Given the description of an element on the screen output the (x, y) to click on. 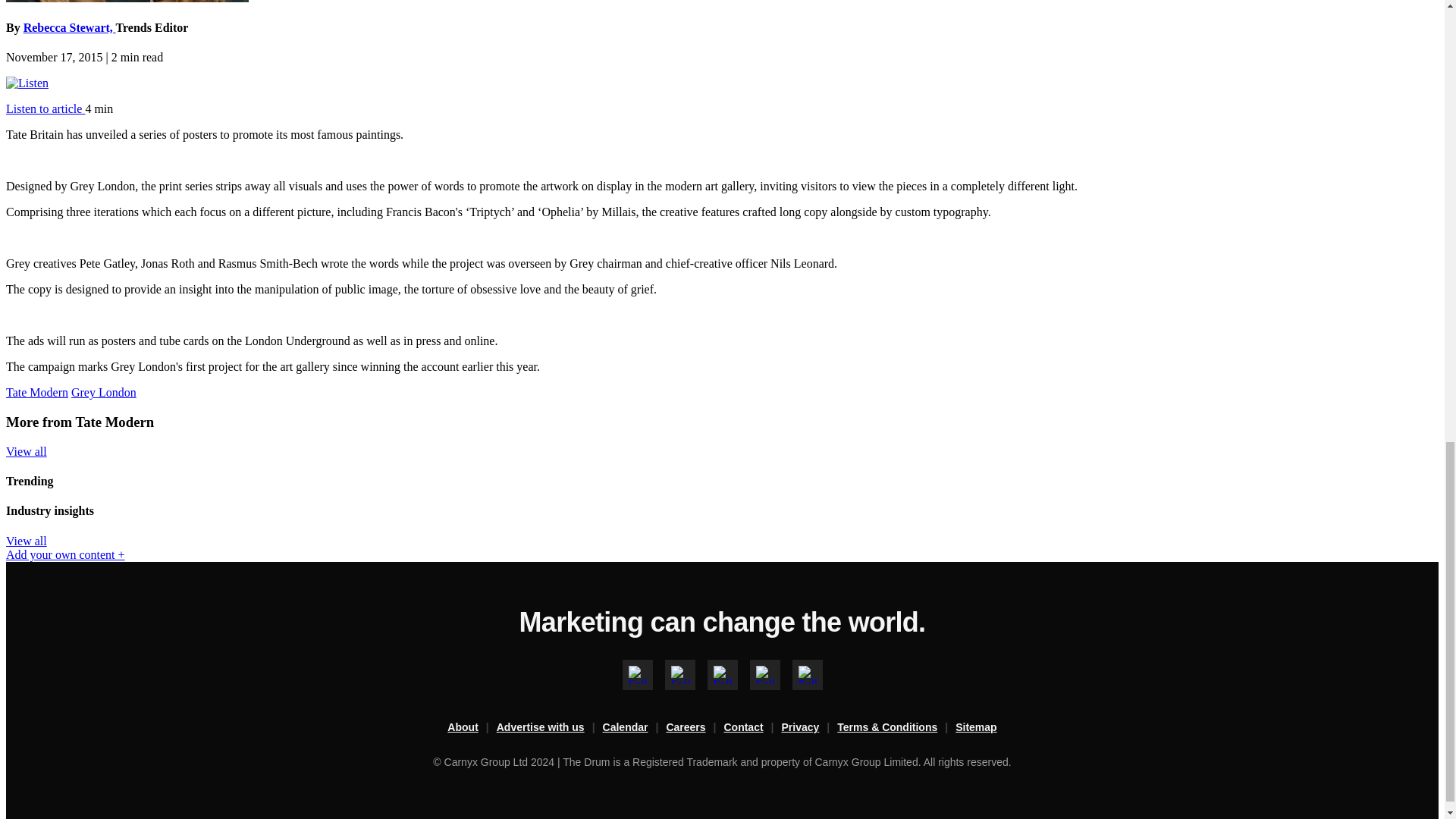
Calendar (634, 728)
Sitemap (975, 728)
View all (25, 540)
Careers (694, 728)
Privacy (809, 728)
Rebecca Stewart, (69, 27)
Contact (751, 728)
Advertise with us (549, 728)
Tate Modern (36, 391)
About (471, 728)
